Given the description of an element on the screen output the (x, y) to click on. 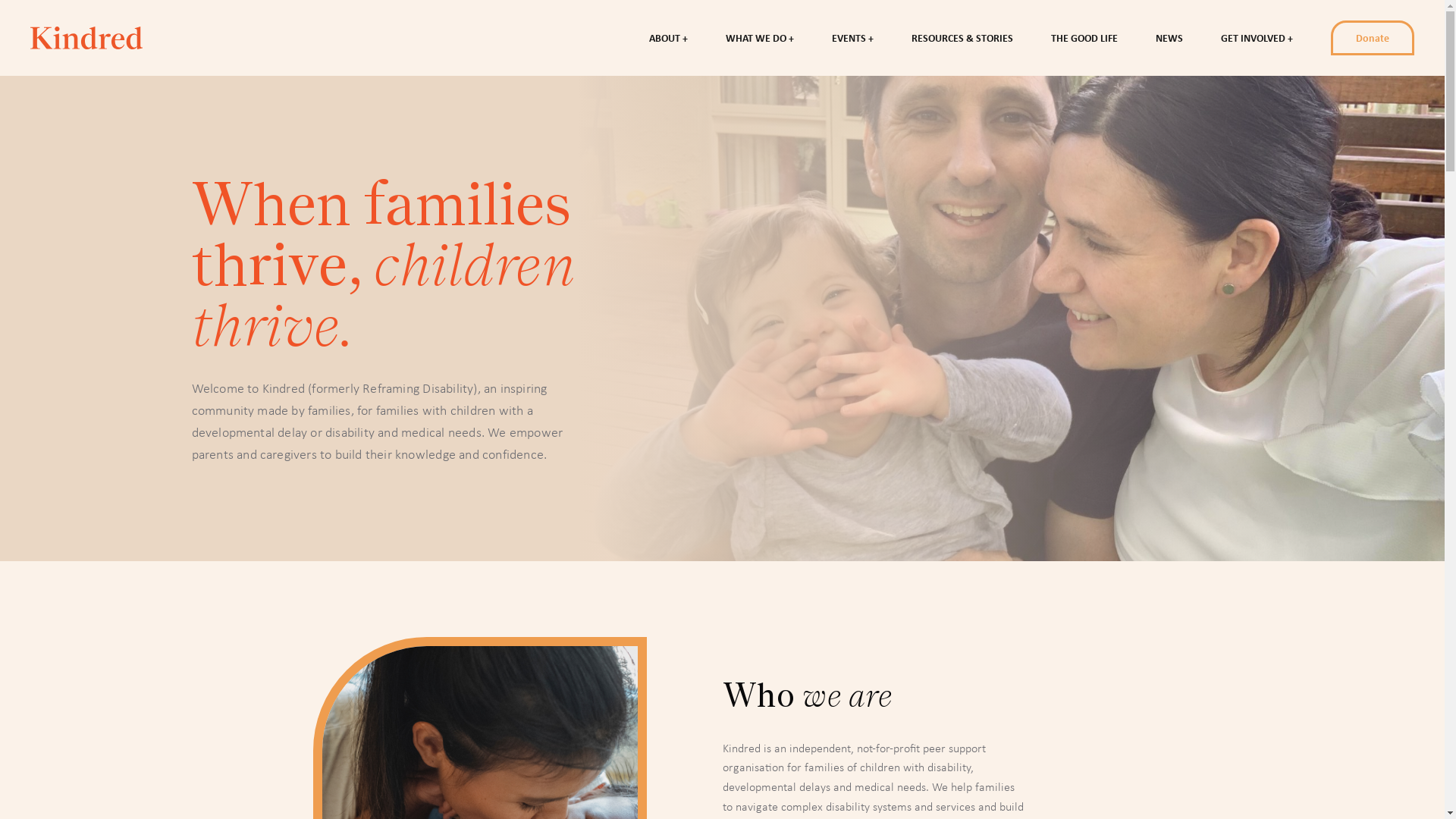
EVENTS Element type: text (852, 37)
THE GOOD LIFE Element type: text (1084, 37)
NEWS Element type: text (1169, 37)
Donate Element type: text (1372, 37)
WHAT WE DO Element type: text (759, 37)
GET INVOLVED Element type: text (1256, 37)
Reframing Disability Element type: hover (86, 37)
ABOUT Element type: text (668, 37)
RESOURCES & STORIES Element type: text (962, 37)
